Given the description of an element on the screen output the (x, y) to click on. 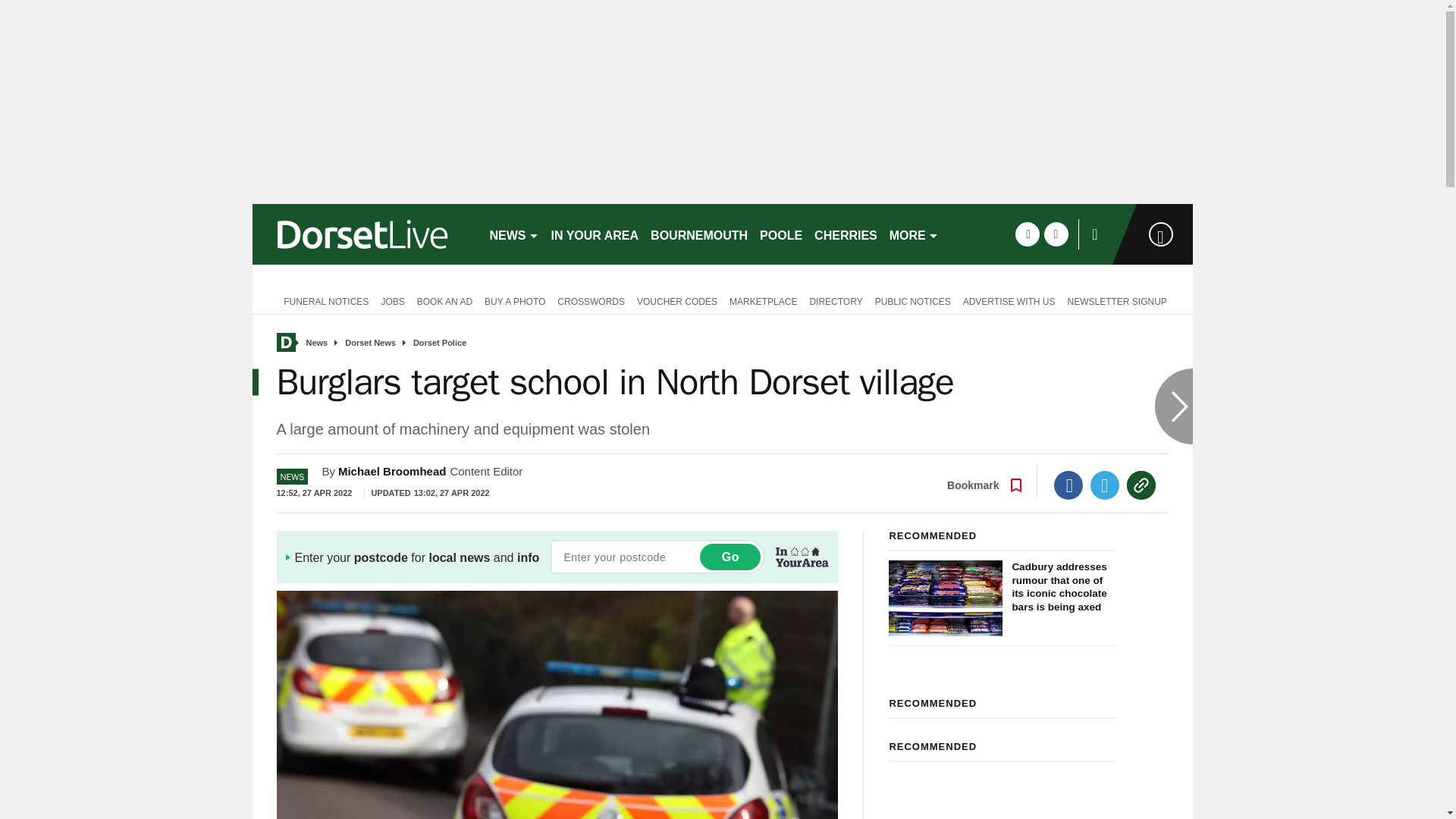
CHERRIES (845, 233)
BOOK AN AD (444, 300)
Facebook (1068, 484)
MARKETPLACE (763, 300)
facebook (1026, 233)
DIRECTORY (835, 300)
CROSSWORDS (590, 300)
dorsetlive (363, 233)
Go (730, 556)
twitter (1055, 233)
BUY A PHOTO (515, 300)
POOLE (781, 233)
Twitter (1104, 484)
JOBS (392, 300)
IN YOUR AREA (594, 233)
